Given the description of an element on the screen output the (x, y) to click on. 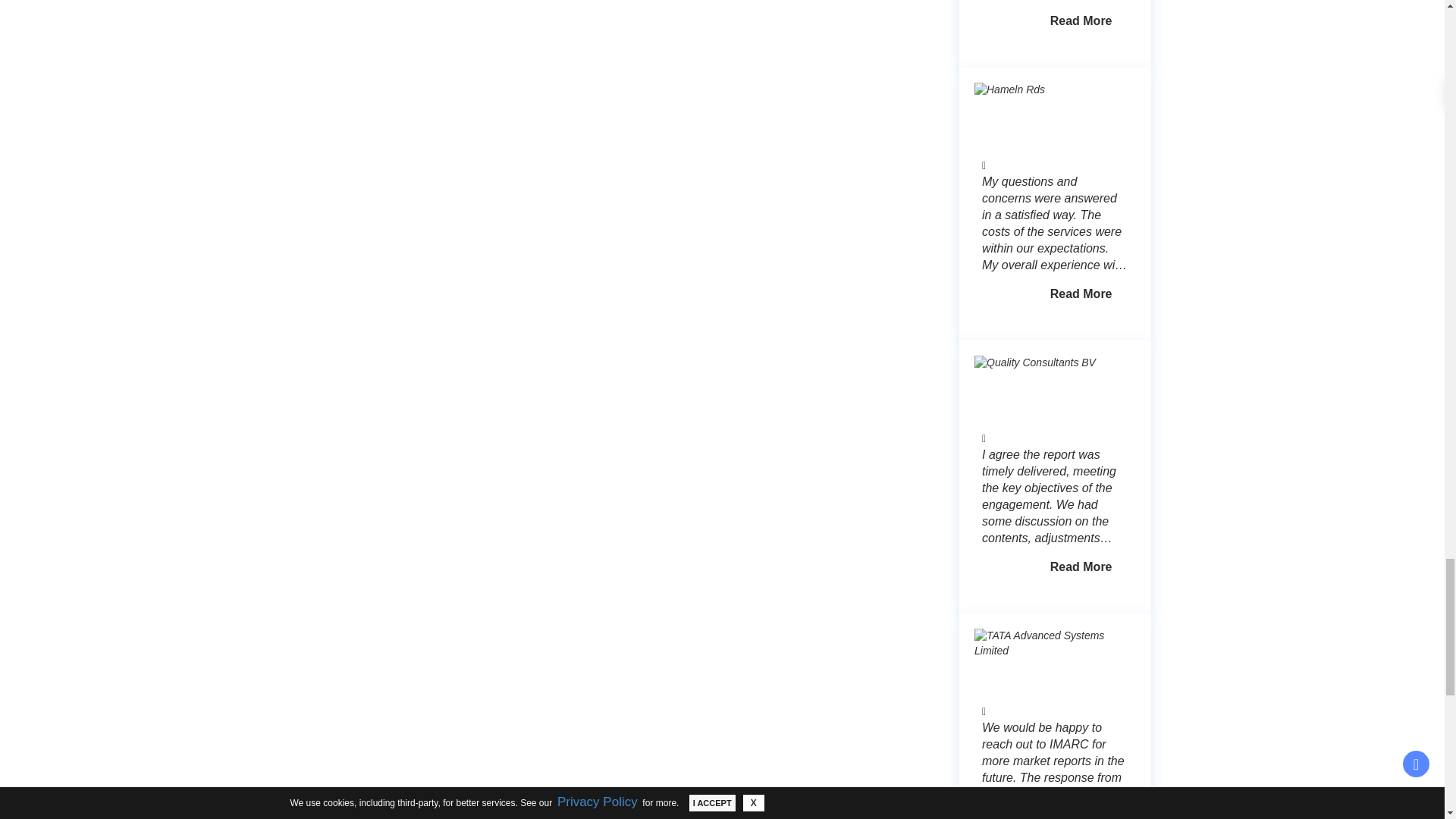
Know more (1081, 567)
Know more (1081, 21)
Know more (1081, 294)
